Given the description of an element on the screen output the (x, y) to click on. 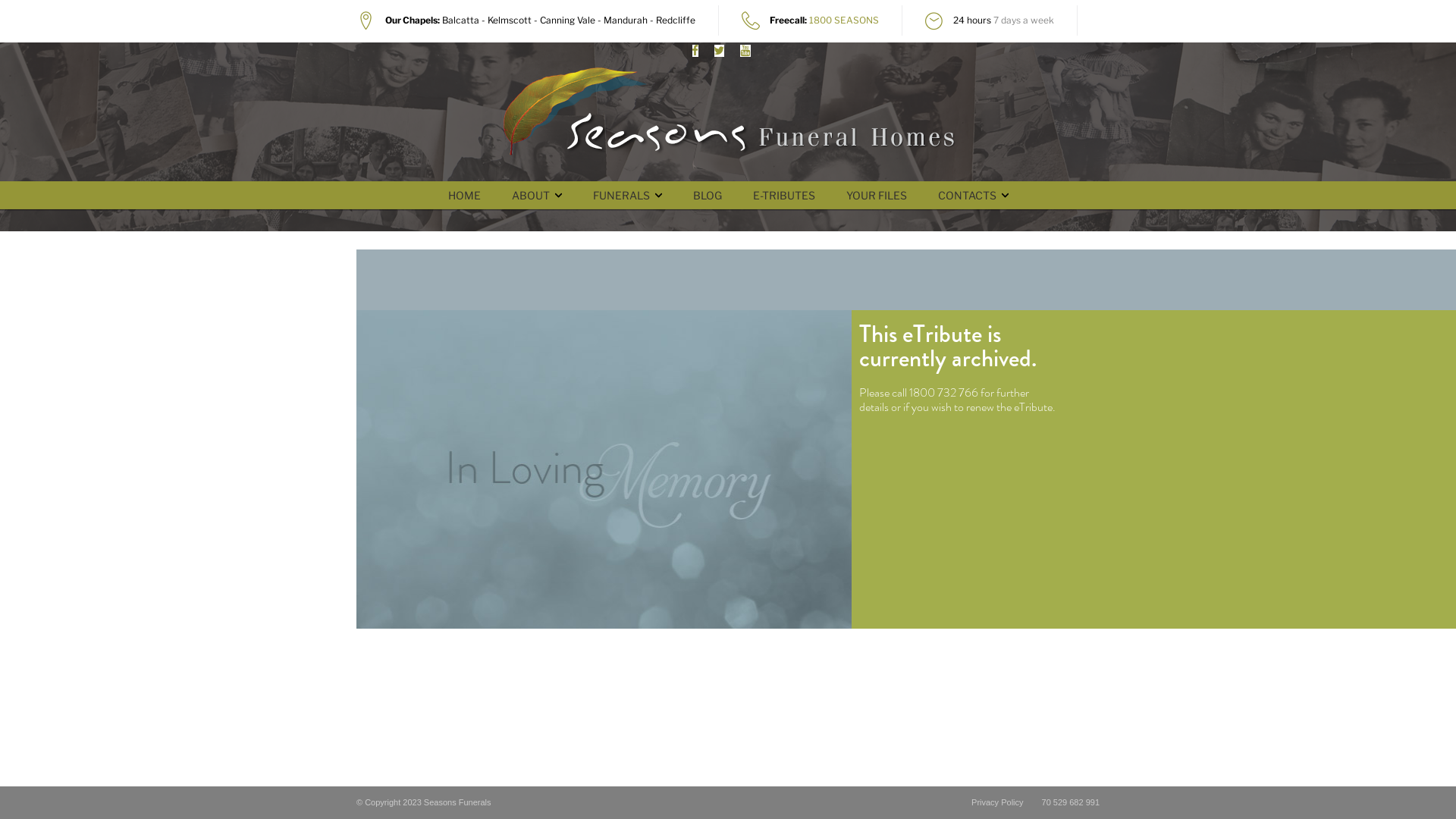
ABOUT Element type: text (530, 195)
FUNERALS Element type: text (621, 195)
Twitter Element type: text (719, 50)
CONTACTS Element type: text (966, 195)
1800 SEASONS Element type: text (843, 19)
YOUR FILES Element type: text (876, 195)
BLOG Element type: text (707, 195)
E-TRIBUTES Element type: text (783, 195)
HOME Element type: text (463, 195)
Facebook Element type: text (694, 50)
Youtube Element type: text (745, 50)
